Given the description of an element on the screen output the (x, y) to click on. 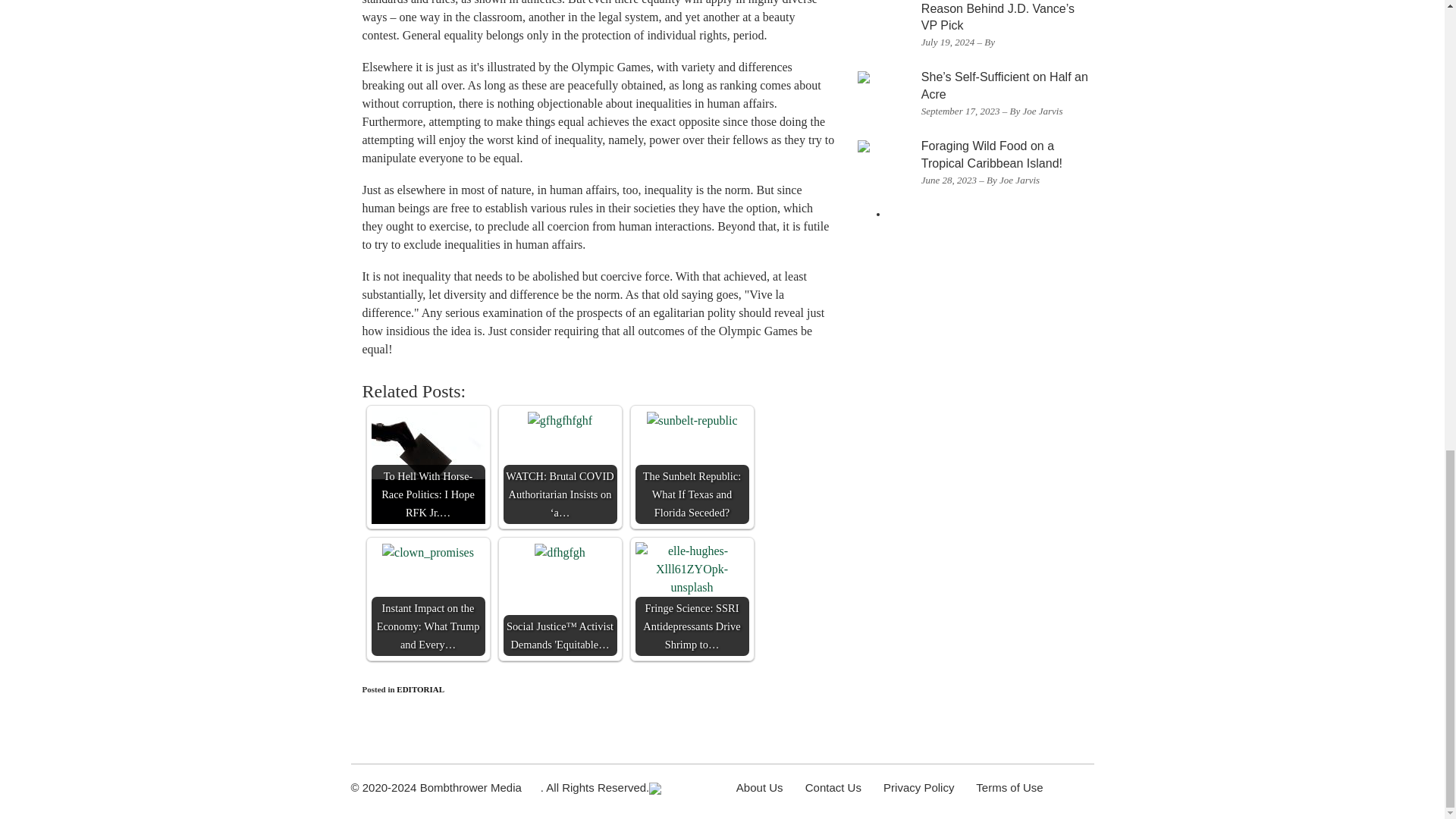
EDITORIAL (420, 688)
Terms of Use (1008, 787)
Privacy Policy (918, 787)
Foraging Wild Food on a Tropical Caribbean Island! (991, 154)
The Sunbelt Republic: What If Texas and Florida Seceded? (692, 420)
The Sunbelt Republic: What If Texas and Florida Seceded? (691, 467)
